Given the description of an element on the screen output the (x, y) to click on. 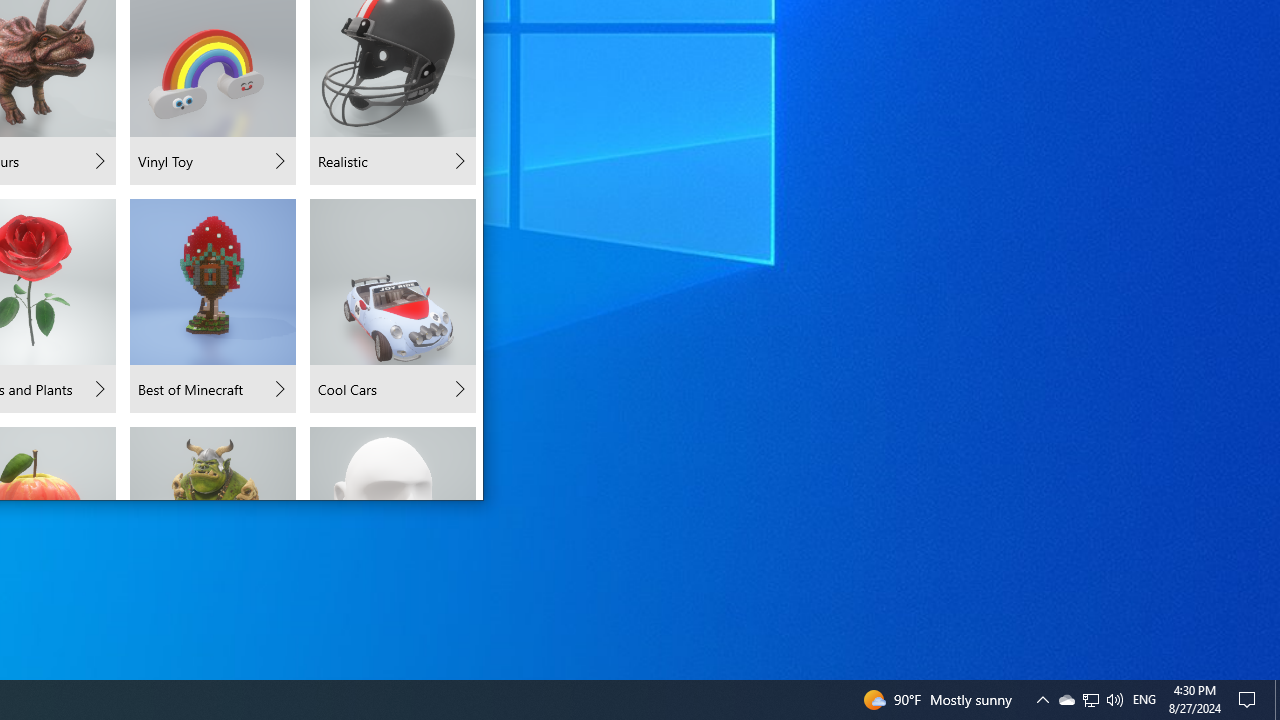
Blank Heads (392, 462)
Cool Cars (392, 305)
Best of Minecraft (212, 305)
Characters (212, 462)
